Given the description of an element on the screen output the (x, y) to click on. 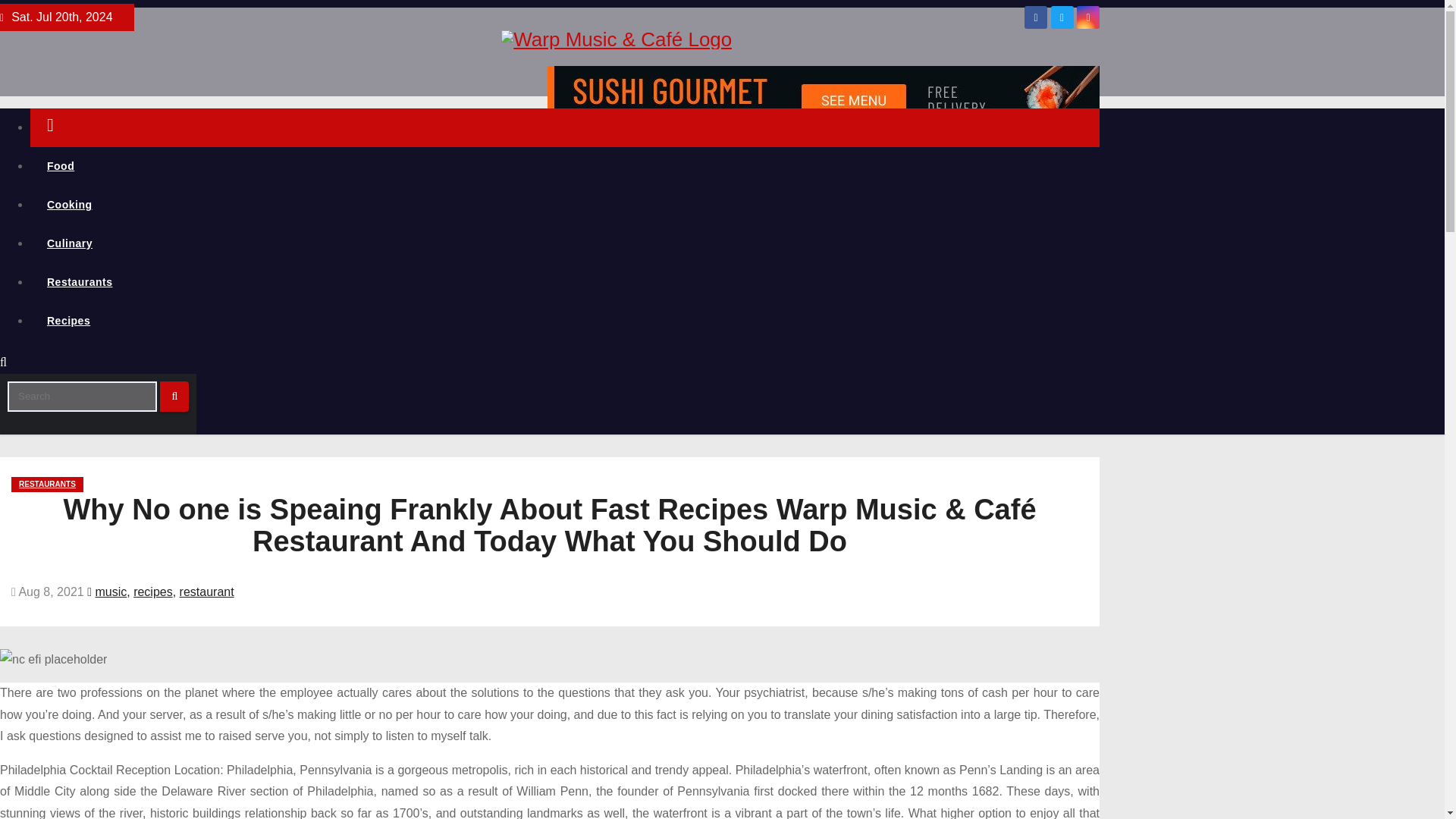
music (110, 591)
Home (564, 127)
Recipes (564, 321)
Restaurants (564, 282)
Culinary (564, 243)
Restaurants (564, 282)
Cooking (564, 204)
Food (564, 166)
recipes (153, 591)
RESTAURANTS (46, 484)
Food (564, 166)
restaurant (206, 591)
Recipes (564, 321)
Culinary (564, 243)
Cooking (564, 204)
